Given the description of an element on the screen output the (x, y) to click on. 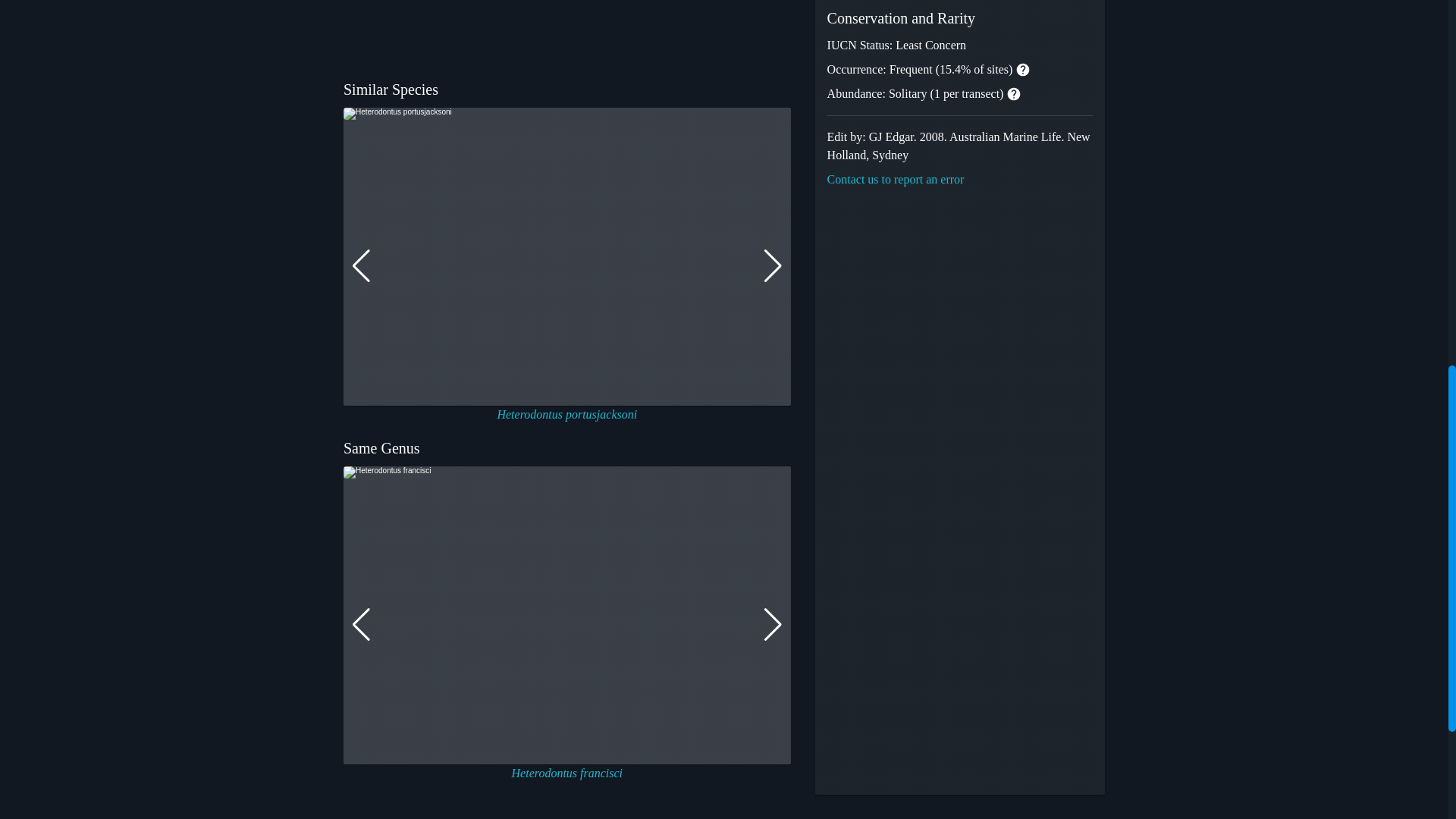
Heterodontus francisci (567, 772)
Contact us to report an error (895, 178)
Heterodontus portusjacksoni (566, 413)
